Given the description of an element on the screen output the (x, y) to click on. 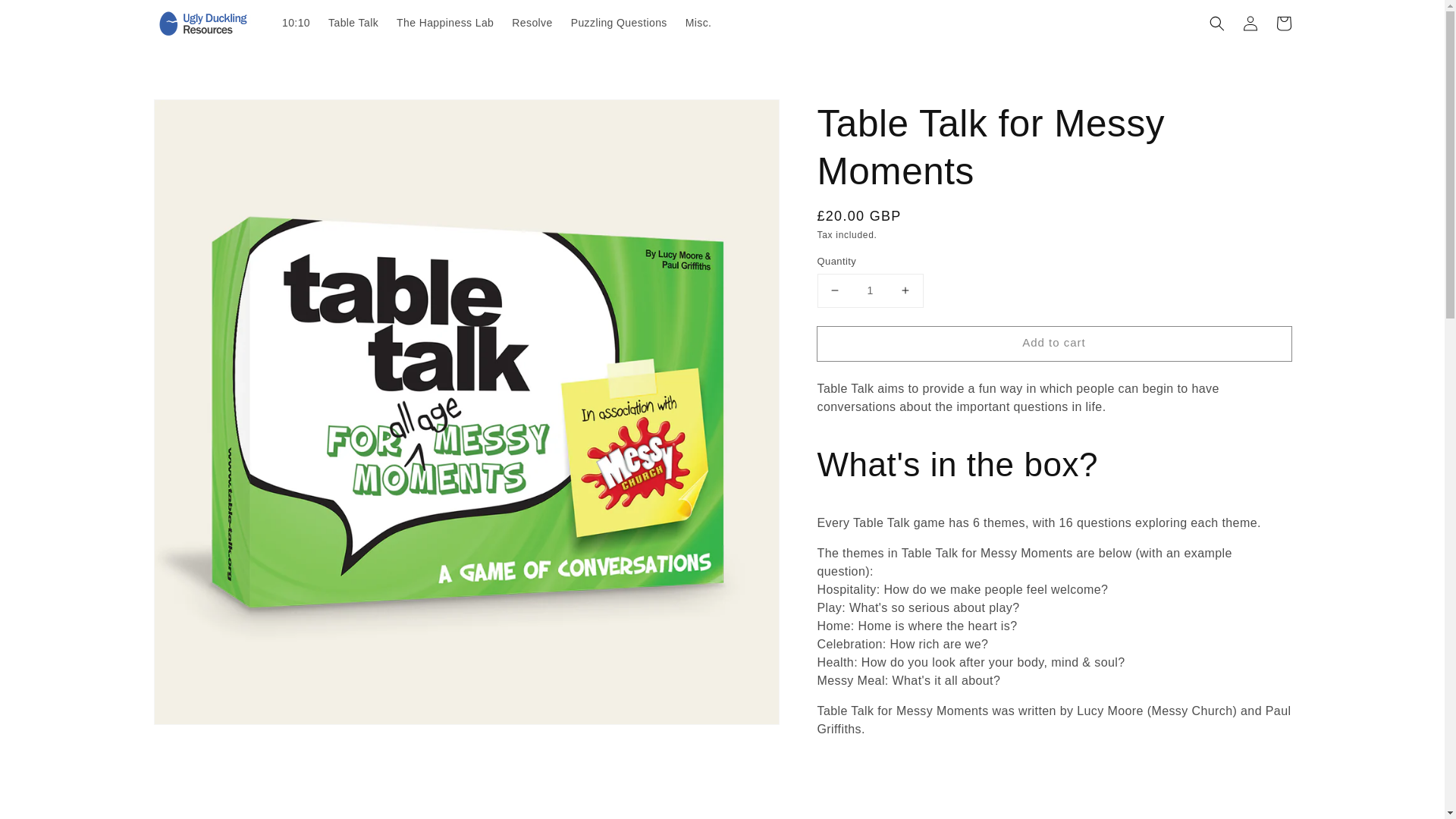
Skip to content (45, 16)
Puzzling Questions (619, 22)
Skip to product information (198, 115)
Table Talk (352, 22)
Add to cart (1053, 343)
Misc. (698, 22)
Log in (1249, 22)
Decrease quantity for Table Talk for Messy Moments (833, 290)
10:10 (295, 22)
Increase quantity for Table Talk for Messy Moments (905, 290)
